Given the description of an element on the screen output the (x, y) to click on. 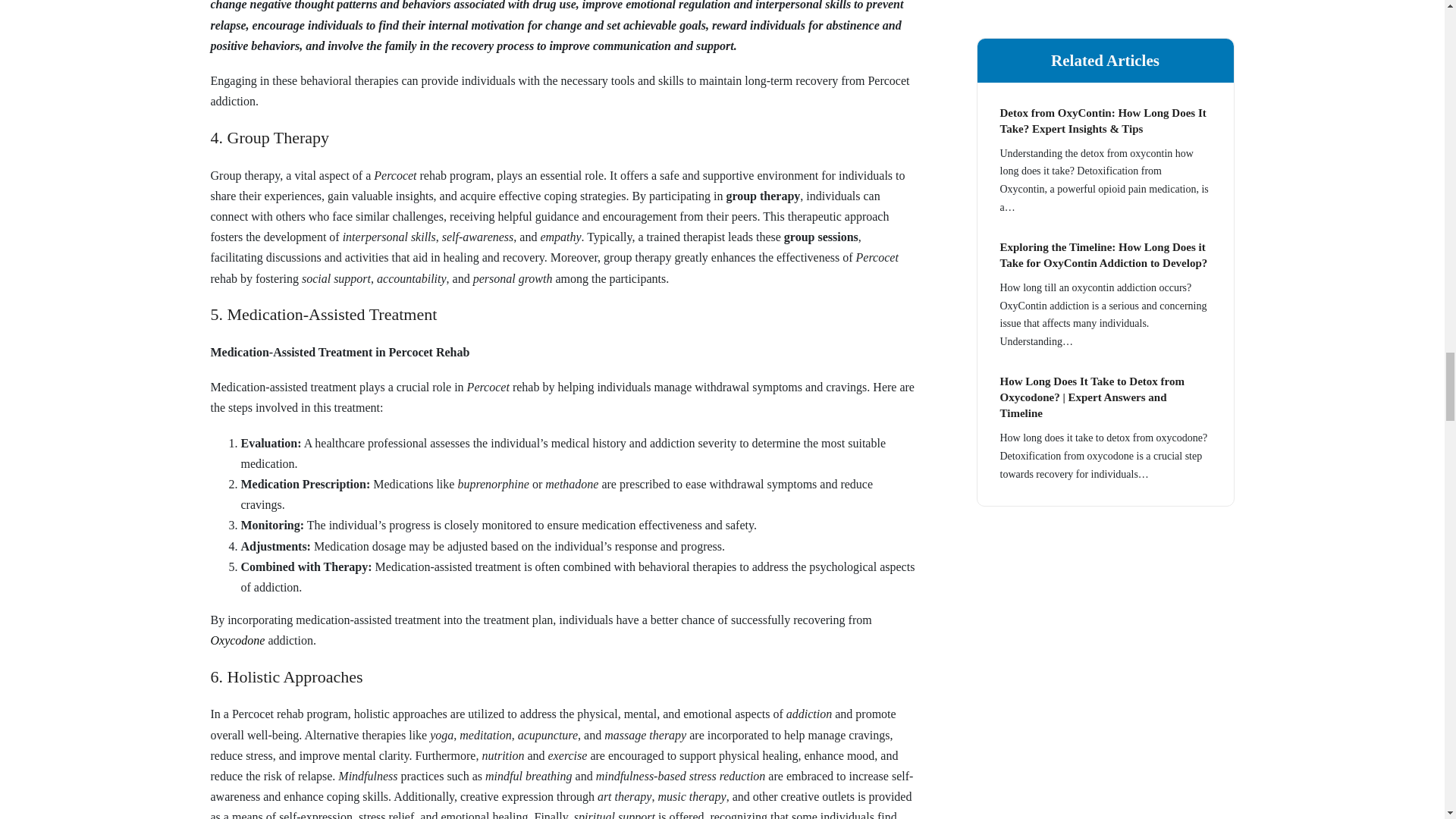
Oxycodone (237, 640)
